Given the description of an element on the screen output the (x, y) to click on. 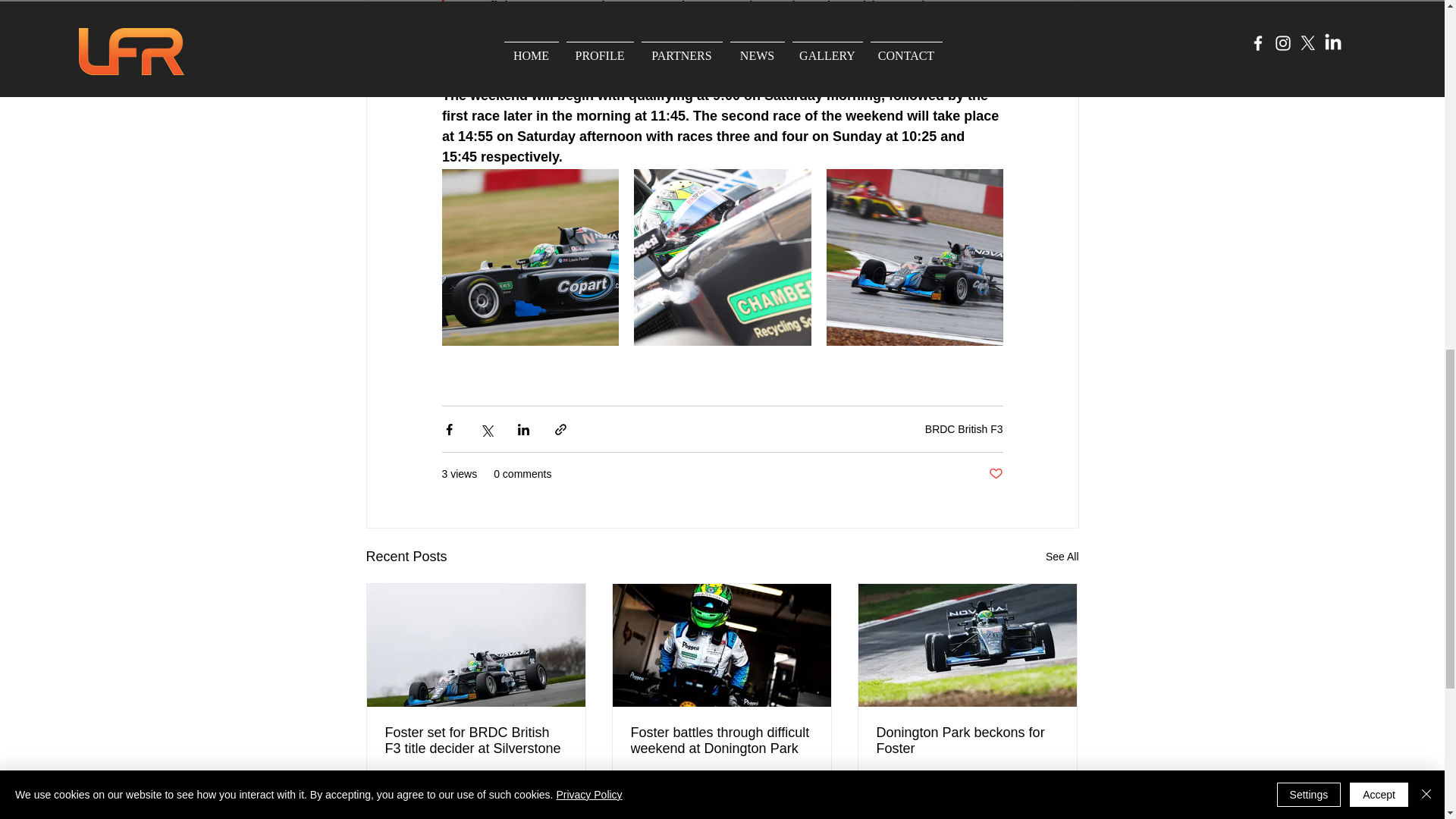
0 (681, 794)
Donington Park beckons for Foster (967, 740)
BRDC British F3 (963, 428)
Foster battles through difficult weekend at Donington Park (721, 740)
Foster set for BRDC British F3 title decider at Silverstone (476, 740)
Post not marked as liked (804, 793)
0 (926, 794)
See All (1061, 557)
Post not marked as liked (1050, 793)
0 (440, 794)
